Given the description of an element on the screen output the (x, y) to click on. 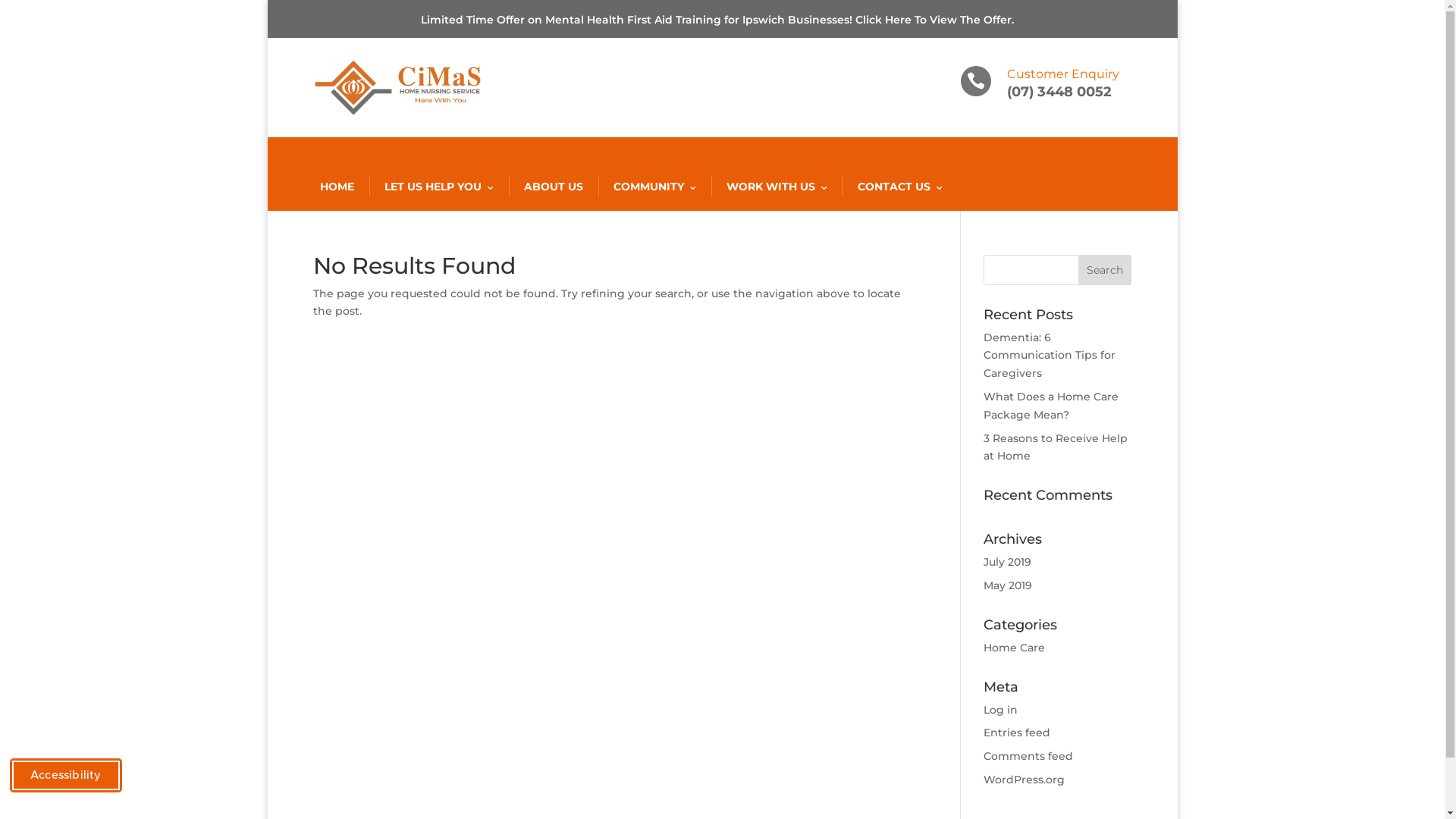
Comments feed Element type: text (1028, 755)
CONTACT US Element type: text (899, 186)
Search Element type: text (1104, 269)
HOME Element type: text (336, 186)
LET US HELP YOU Element type: text (438, 186)
May 2019 Element type: text (1007, 585)
Dementia: 6 Communication Tips for Caregivers Element type: text (1049, 355)
Entries feed Element type: text (1016, 732)
Home Care Element type: text (1013, 647)
Log in Element type: text (1000, 709)
Cimas Logo Element type: hover (397, 87)
July 2019 Element type: text (1007, 561)
What Does a Home Care Package Mean? Element type: text (1050, 405)
ABOUT US Element type: text (552, 186)
3 Reasons to Receive Help at Home Element type: text (1055, 447)
WORK WITH US Element type: text (776, 186)
COMMUNITY Element type: text (653, 186)
WordPress.org Element type: text (1023, 779)
